Given the description of an element on the screen output the (x, y) to click on. 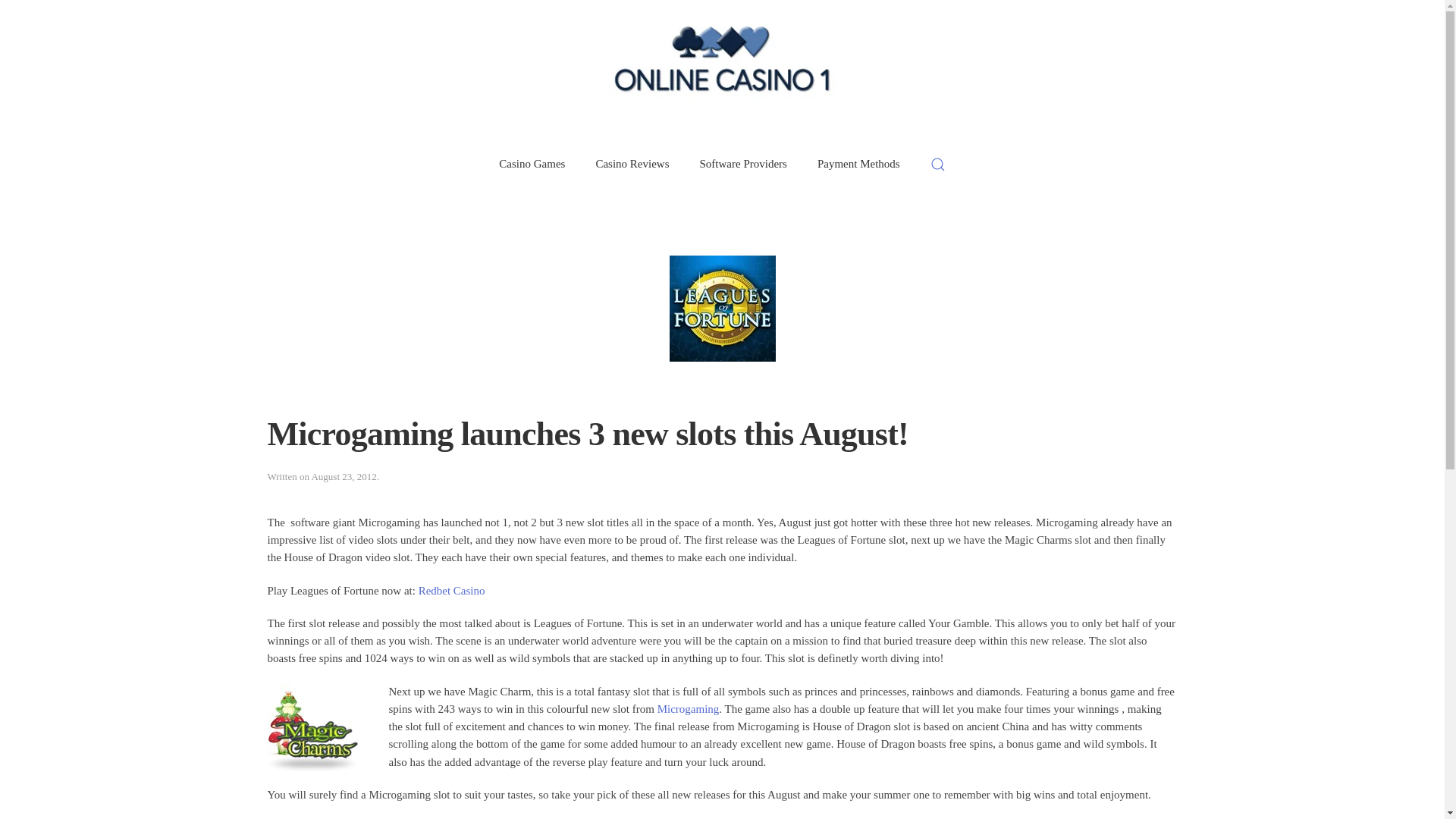
redbet casino (451, 590)
